Given the description of an element on the screen output the (x, y) to click on. 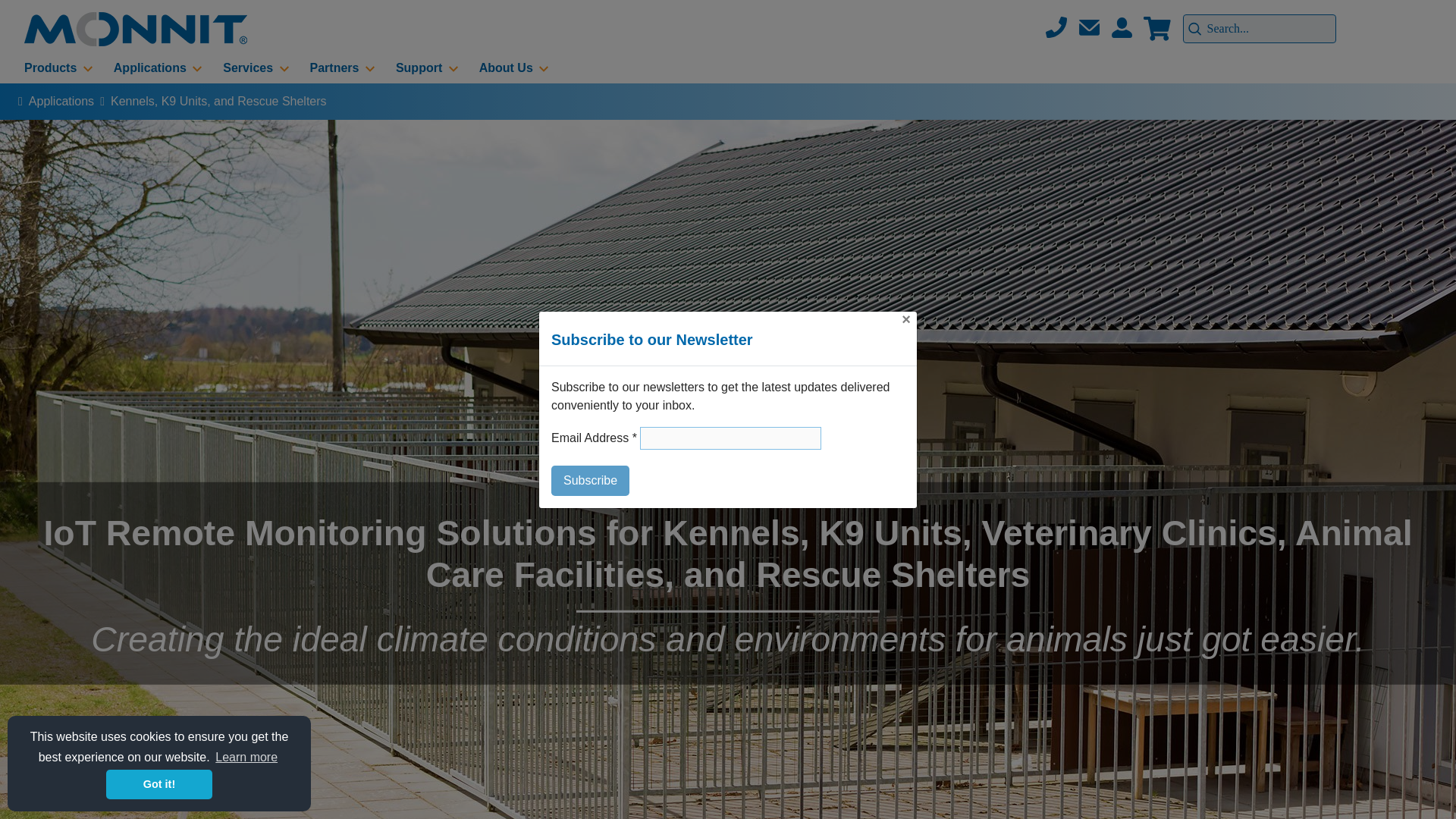
Got it! (159, 784)
Learn more (245, 757)
Subscribe (589, 481)
